Given the description of an element on the screen output the (x, y) to click on. 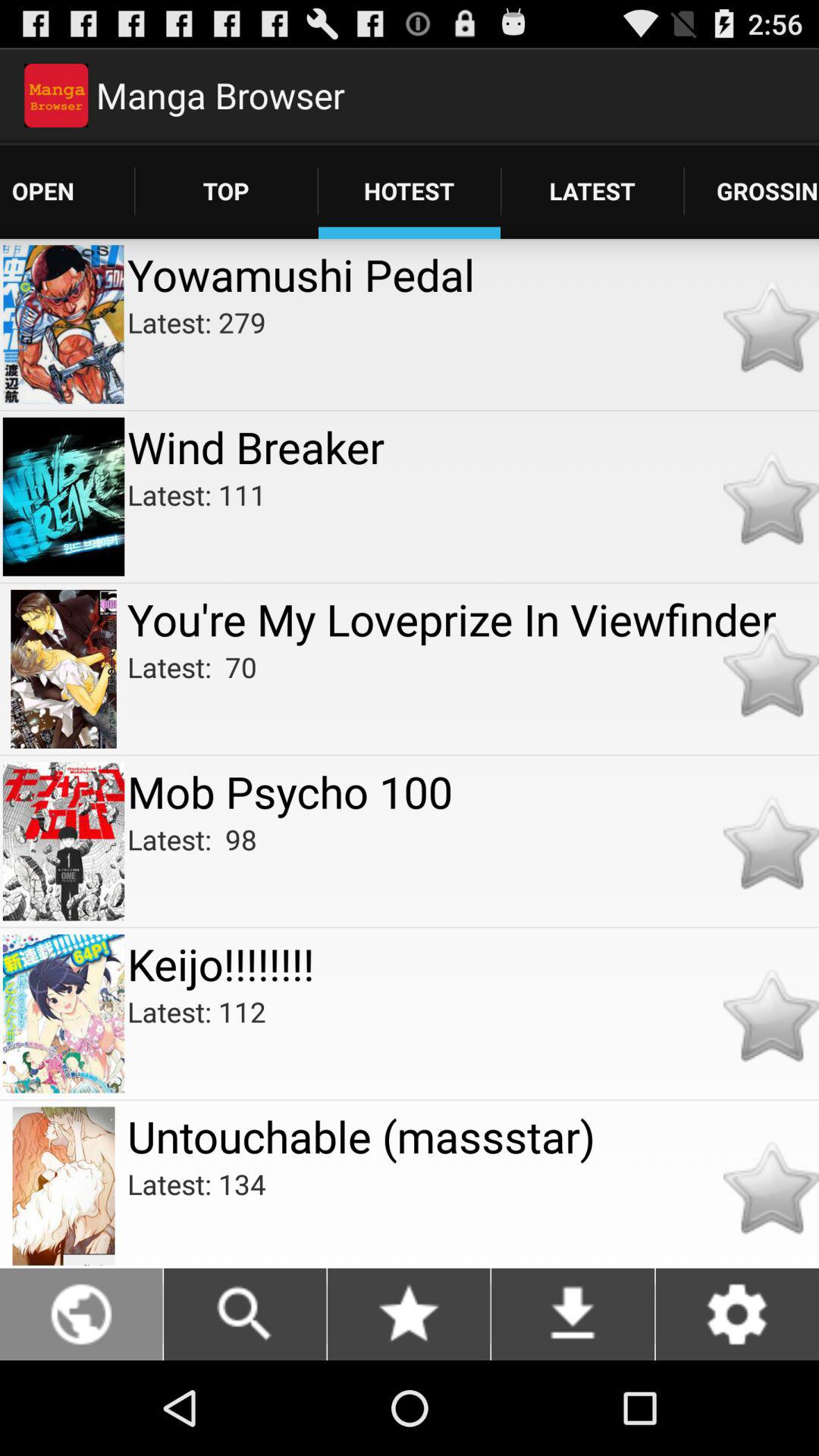
swipe until untouchable (massstar) app (473, 1135)
